Given the description of an element on the screen output the (x, y) to click on. 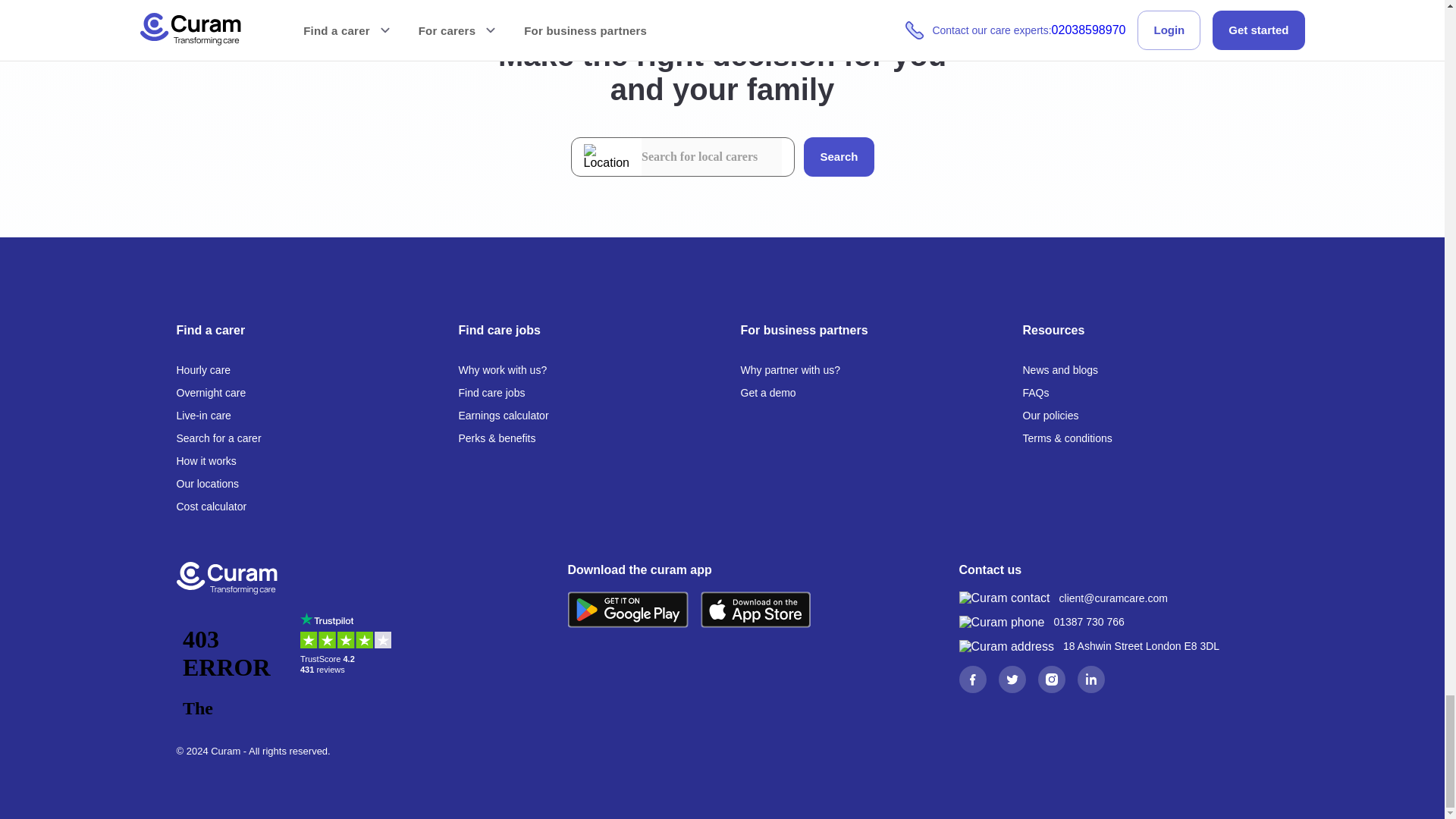
Cost calculator (211, 506)
Customer reviews powered by Trustpilot (348, 666)
